Given the description of an element on the screen output the (x, y) to click on. 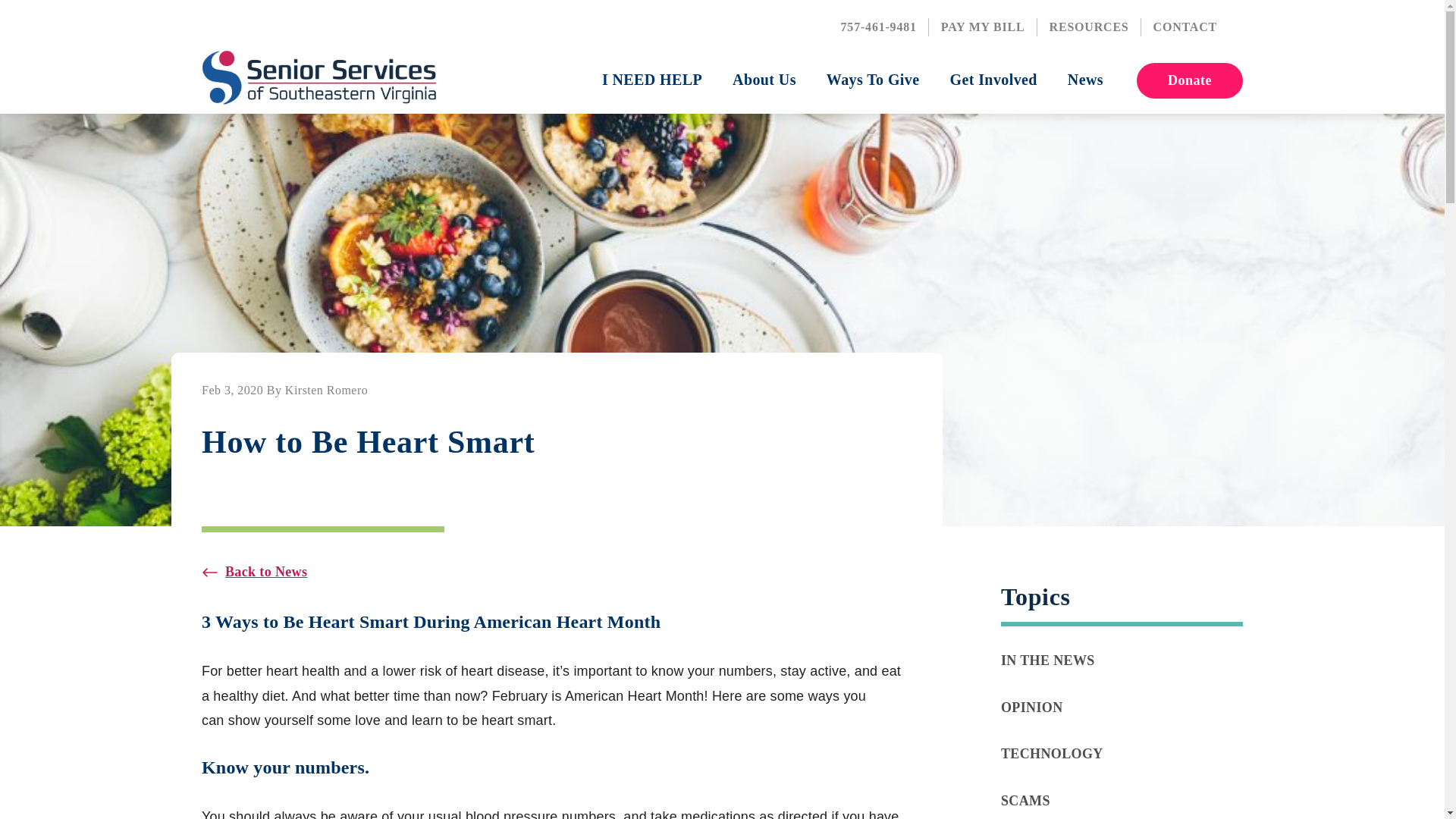
757-461-9481 (878, 27)
PAY MY BILL (982, 27)
I NEED HELP (651, 80)
CONTACT (1184, 27)
RESOURCES (1088, 27)
